Given the description of an element on the screen output the (x, y) to click on. 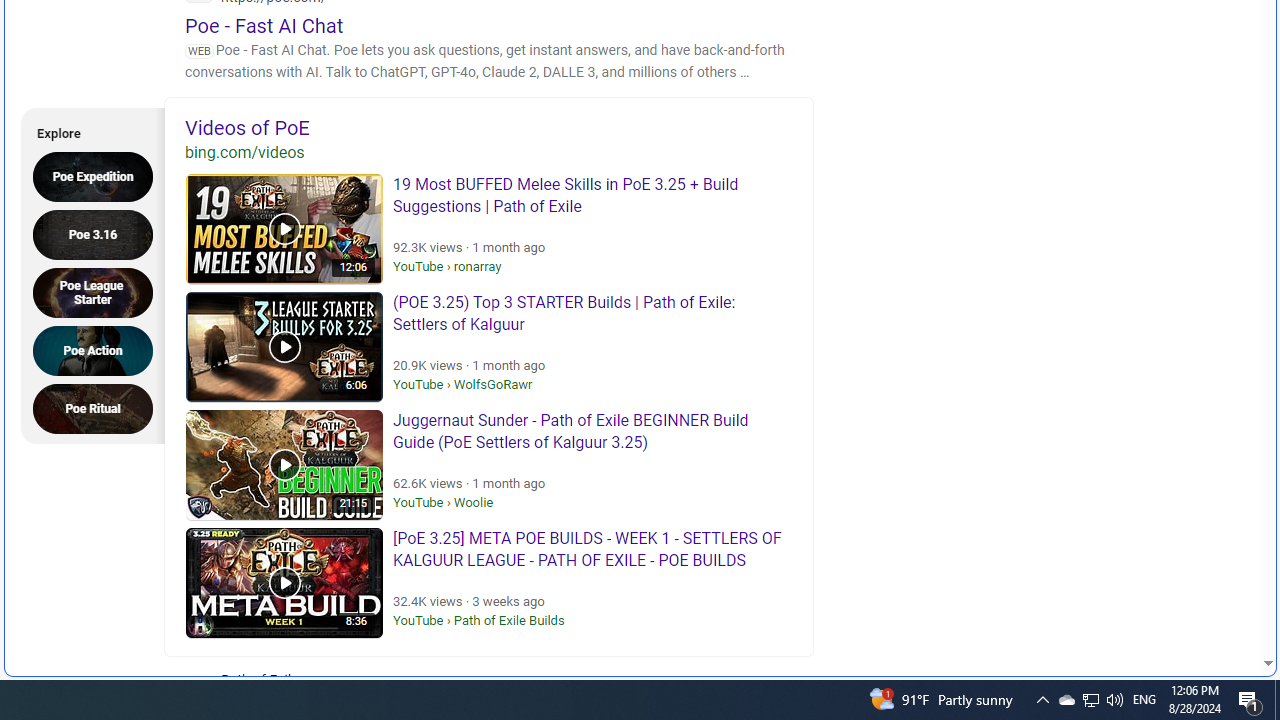
Poe League Starter (99, 292)
Poe Action (99, 349)
AutomationID: mfa_root (1192, 603)
Poe Ritual (99, 408)
Explore (86, 130)
Videos of PoE (489, 127)
Poe Expedition (99, 176)
Path of Exile (324, 692)
